Given the description of an element on the screen output the (x, y) to click on. 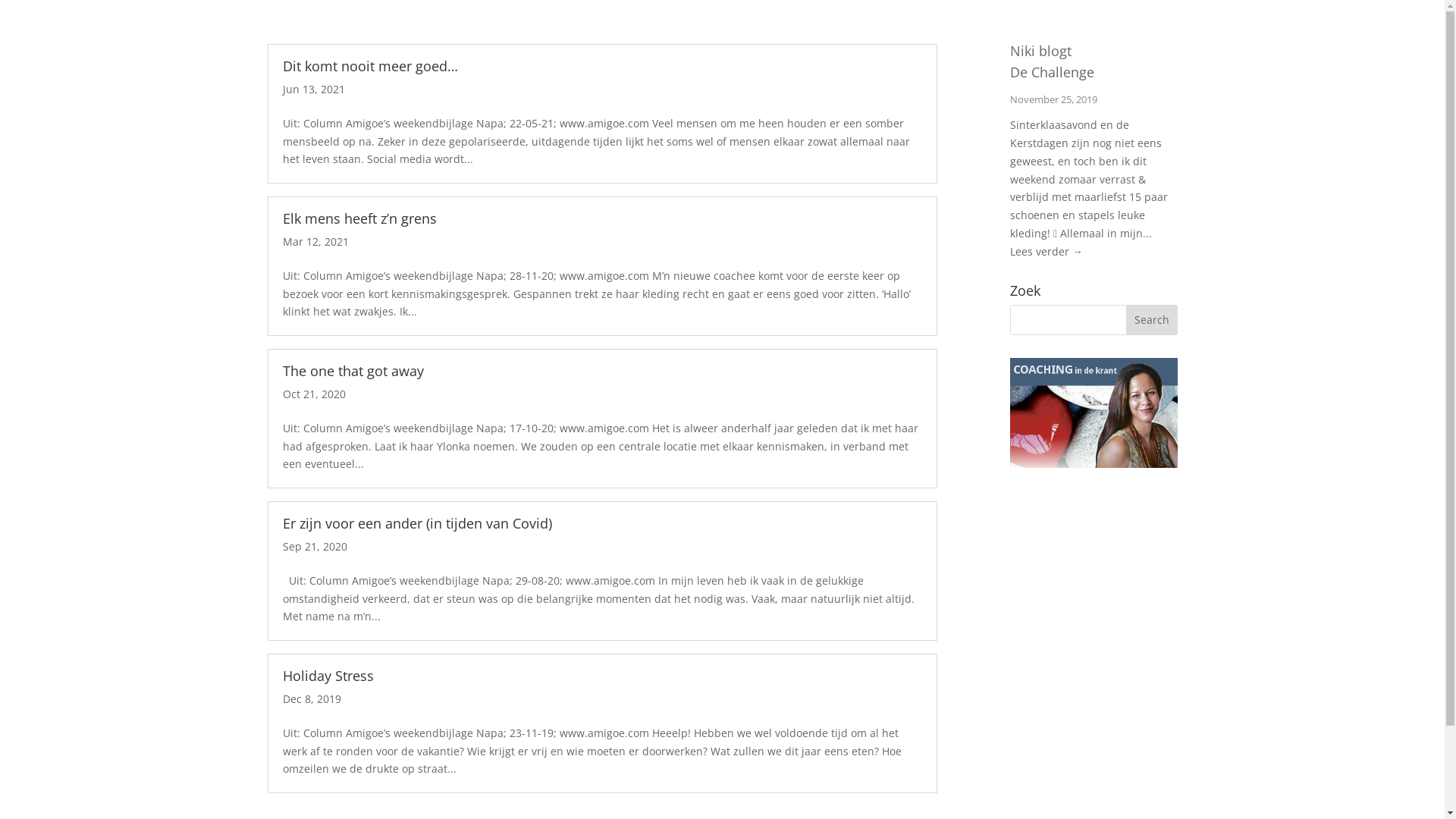
Holiday Stress Element type: text (327, 675)
Er zijn voor een ander (in tijden van Covid) Element type: text (416, 523)
The one that got away Element type: text (352, 370)
Niki blogt Element type: text (1040, 50)
Search Element type: text (1151, 319)
De Challenge Element type: text (1052, 71)
